Given the description of an element on the screen output the (x, y) to click on. 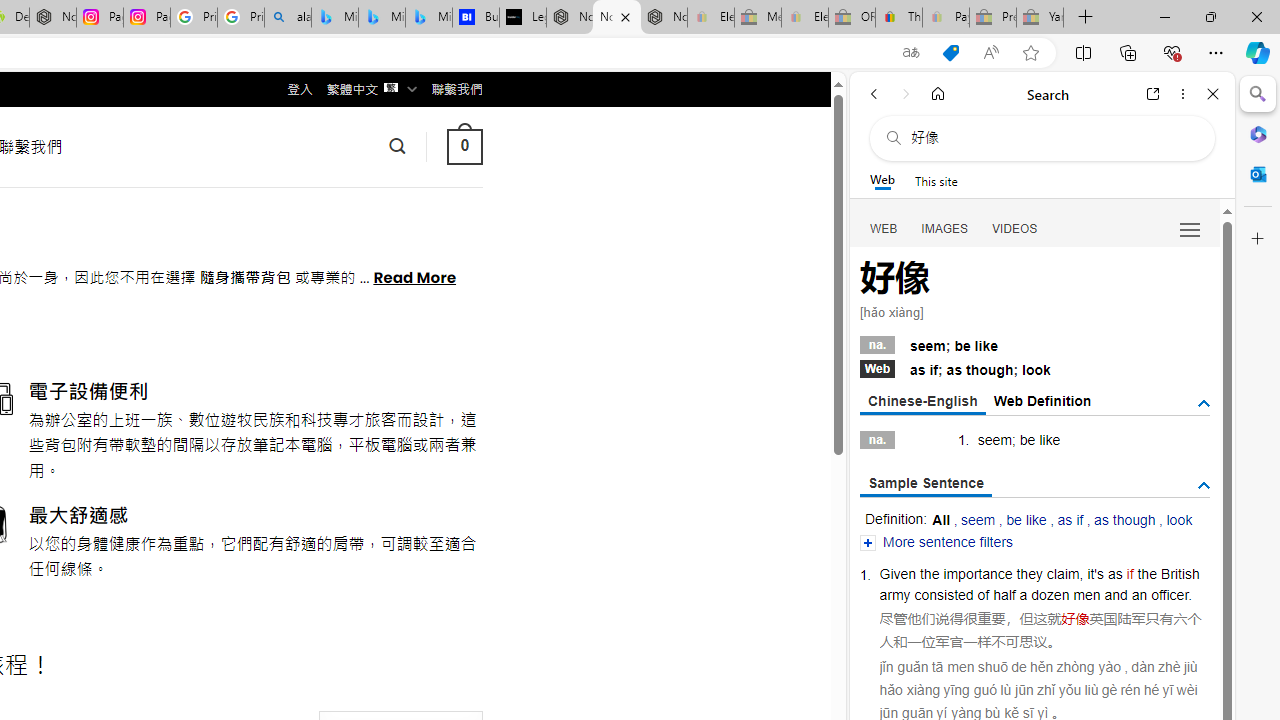
, (1081, 573)
This site scope (936, 180)
  0   (464, 146)
officer (1169, 594)
Press Room - eBay Inc. - Sleeping (993, 17)
Microsoft Bing Travel - Flights from Hong Kong to Bangkok (335, 17)
army (895, 594)
